Given the description of an element on the screen output the (x, y) to click on. 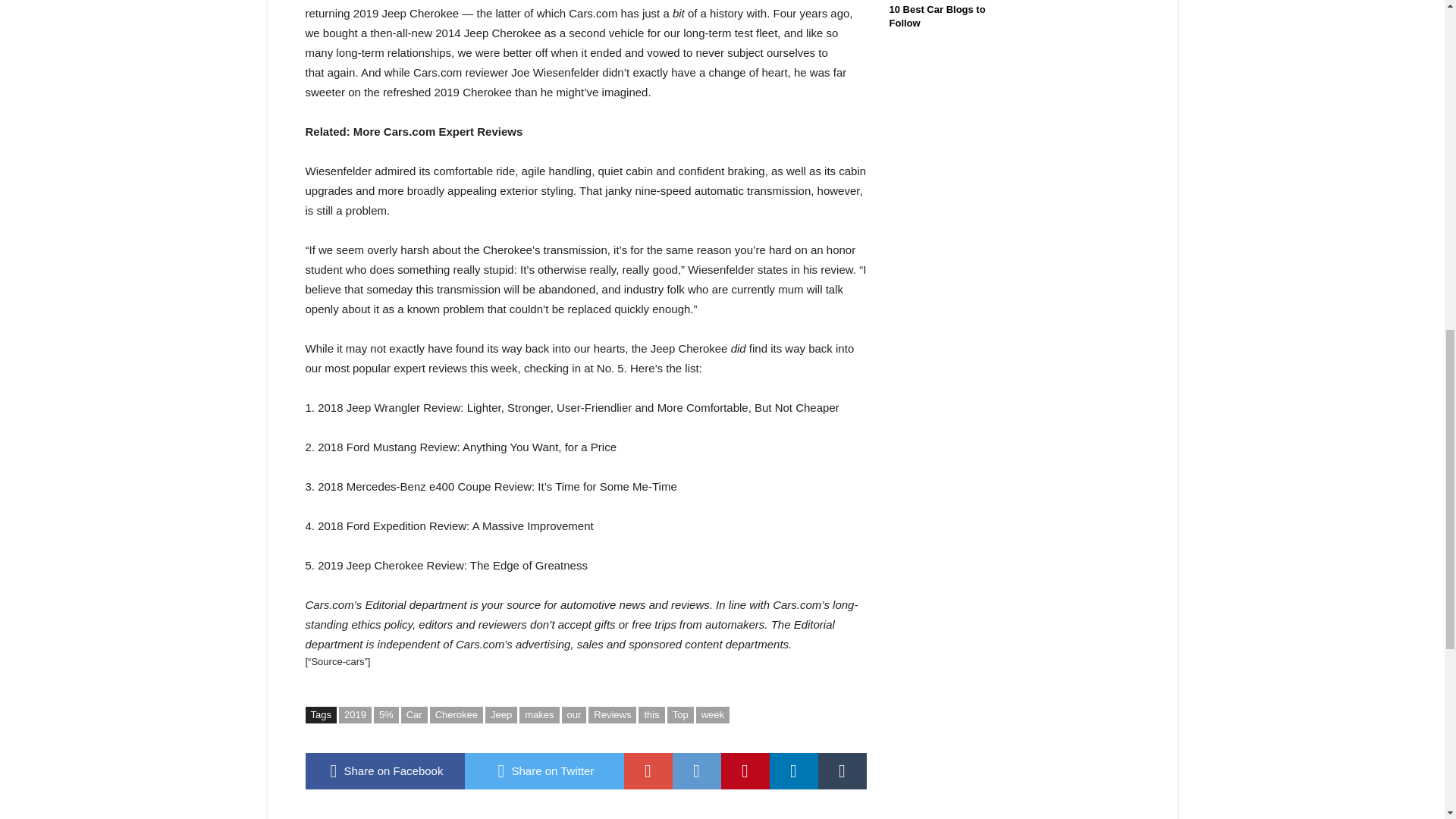
Top (680, 714)
our (574, 714)
Share on Tumblr (841, 770)
twitter (543, 770)
linkedin (792, 770)
Share on Pinterest (744, 770)
makes (539, 714)
week (712, 714)
Share on Facebook (384, 770)
reddit (695, 770)
